Given the description of an element on the screen output the (x, y) to click on. 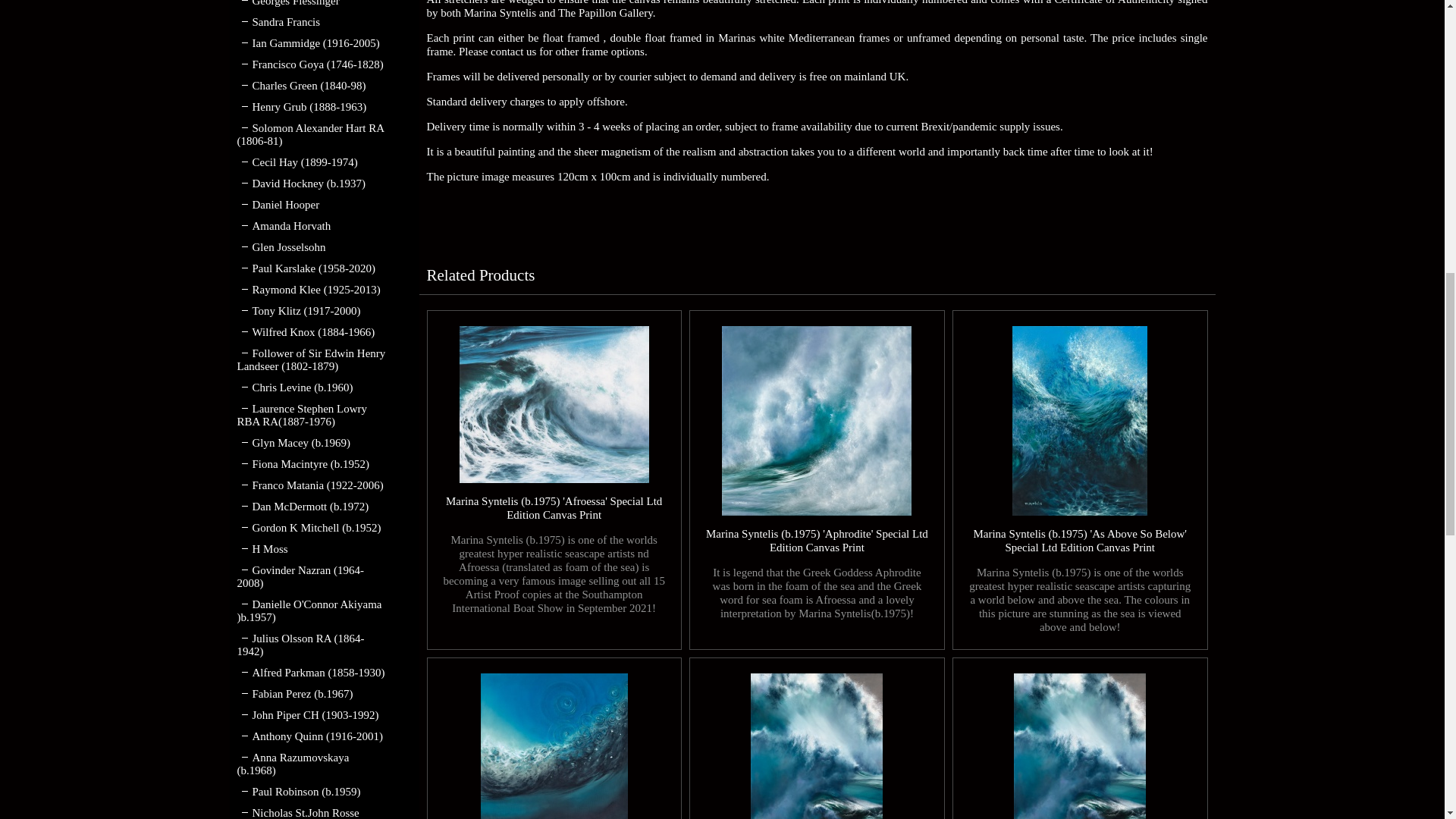
Georges Fiessinger (287, 3)
Glen Josselsohn (279, 246)
Amanda Horvath (282, 225)
Daniel Hooper (276, 204)
Sandra Francis (277, 21)
